Given the description of an element on the screen output the (x, y) to click on. 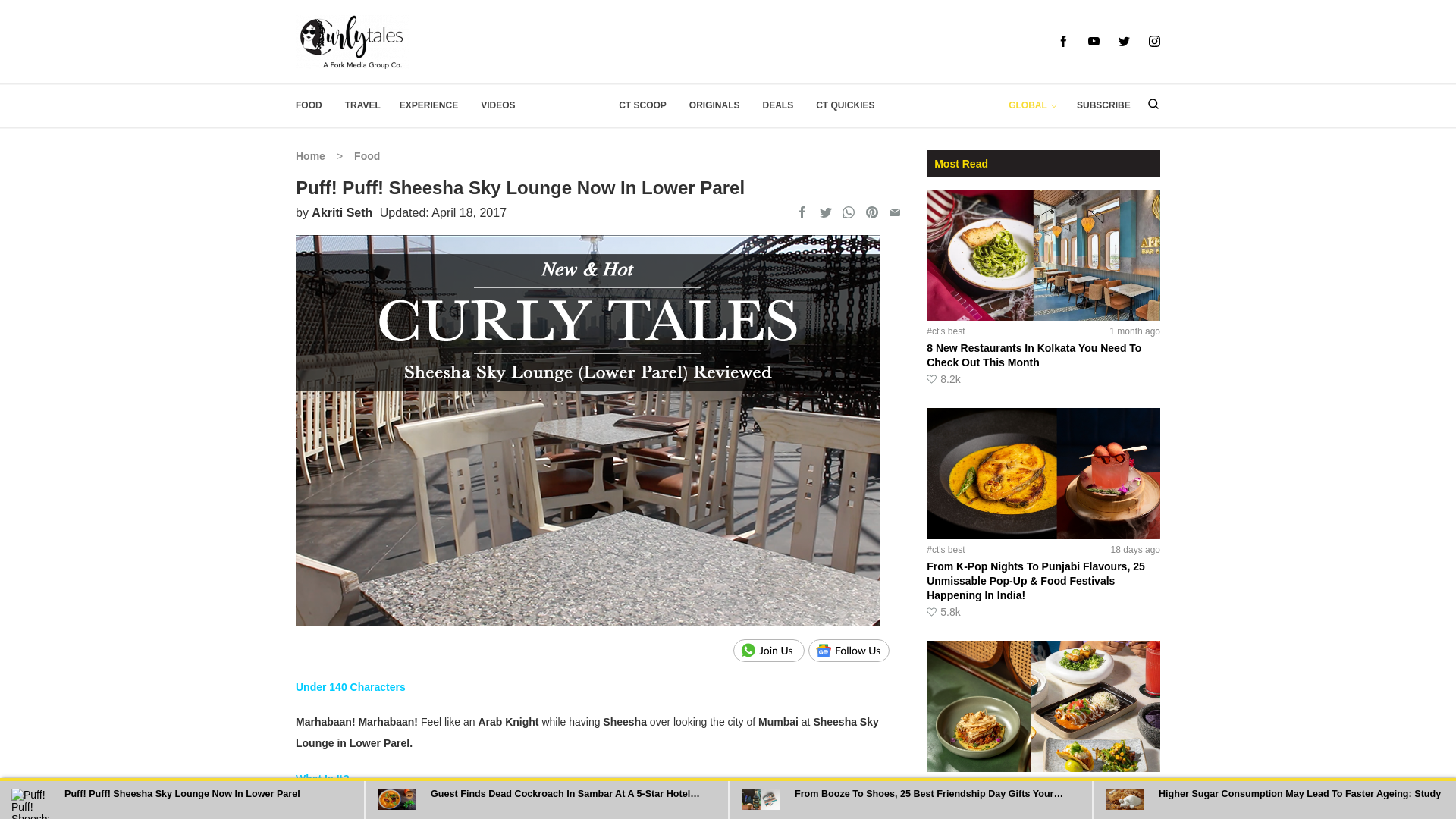
FOOD (308, 105)
